Given the description of an element on the screen output the (x, y) to click on. 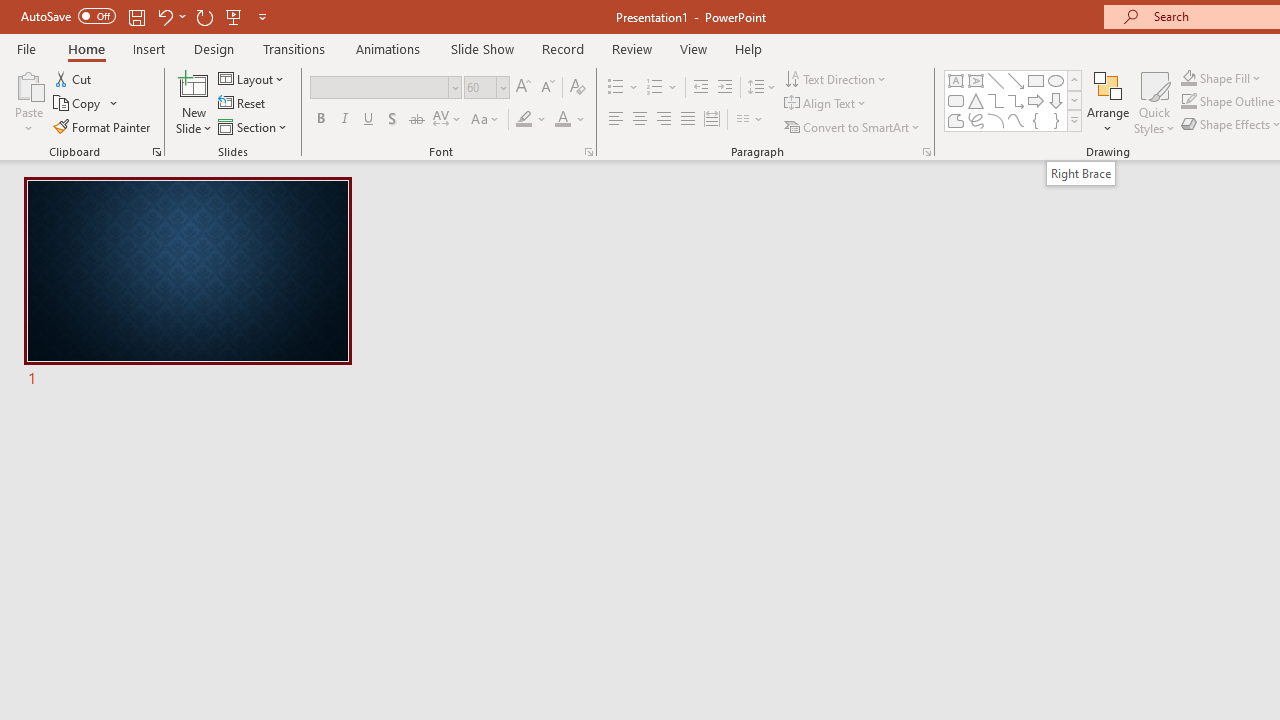
Bold (320, 119)
Clear Formatting (577, 87)
Change Case (486, 119)
Arrange (1108, 102)
Italic (344, 119)
Convert to SmartArt (853, 126)
Underline (369, 119)
